Given the description of an element on the screen output the (x, y) to click on. 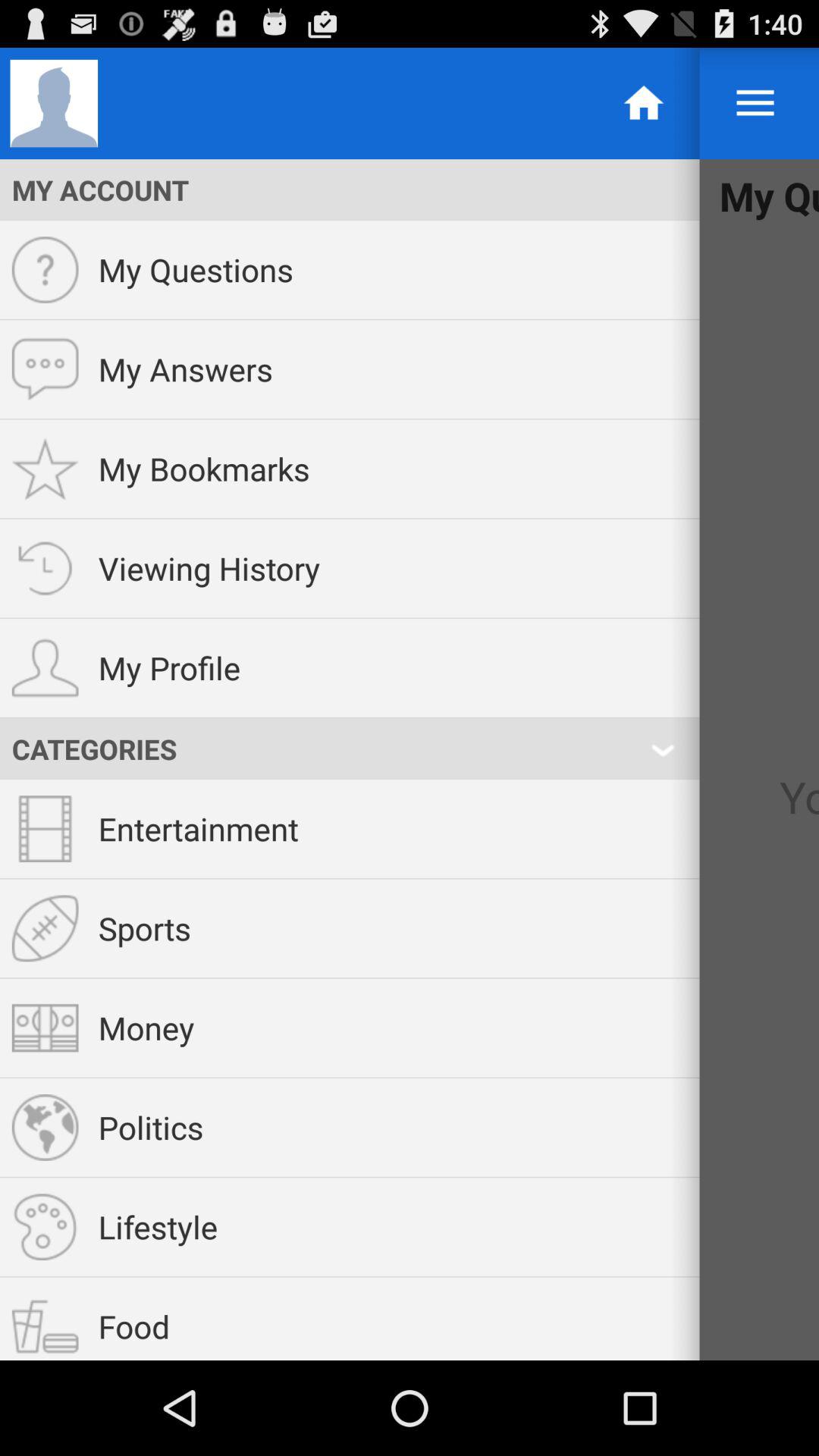
click on the home image option (644, 103)
go to icon beside entertainment (45, 827)
click on the icon which is left to the my answers (45, 369)
